Given the description of an element on the screen output the (x, y) to click on. 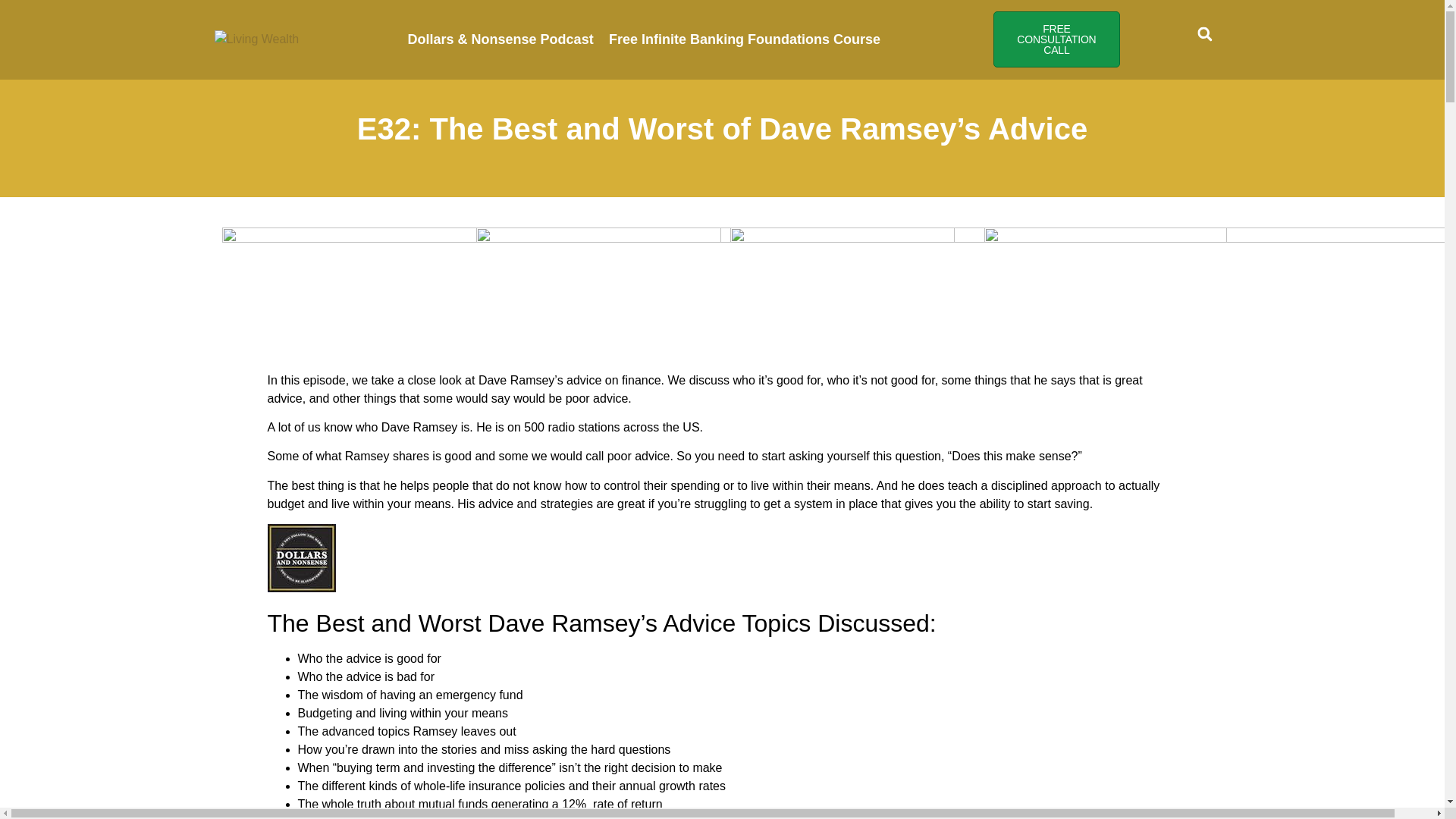
Free Infinite Banking Foundations Course (744, 39)
Living Wealth (256, 39)
FREE CONSULTATION CALL (1055, 39)
